Given the description of an element on the screen output the (x, y) to click on. 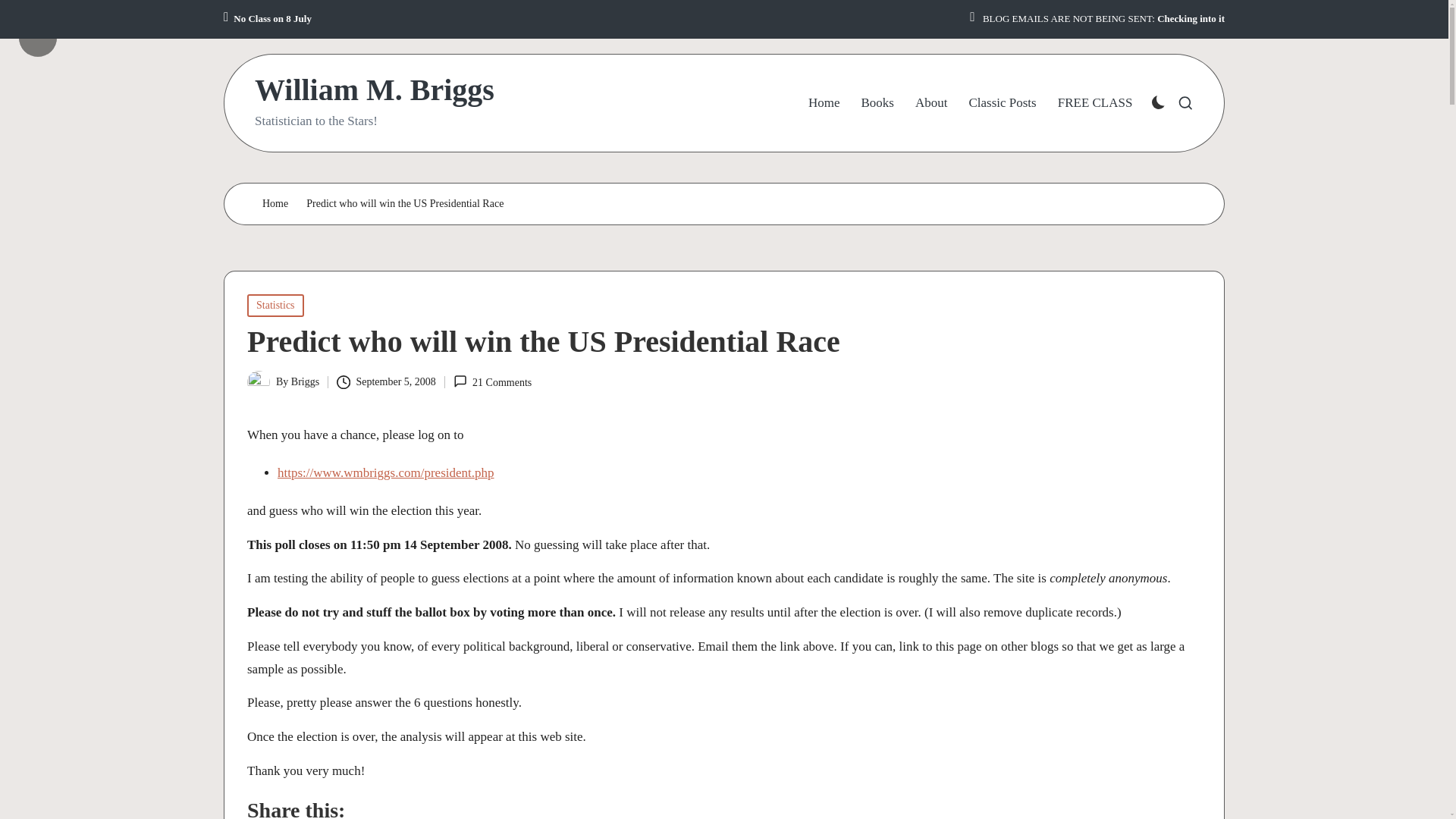
Briggs (304, 381)
Checking into it (1190, 18)
Home (275, 203)
Home (824, 103)
Statistics (275, 305)
The post author (56, 25)
FREE CLASS (1095, 103)
Classic Posts (1001, 103)
About (931, 103)
William M. Briggs (374, 90)
View all posts by Briggs (304, 381)
Books (876, 103)
21 Comments (491, 381)
